Given the description of an element on the screen output the (x, y) to click on. 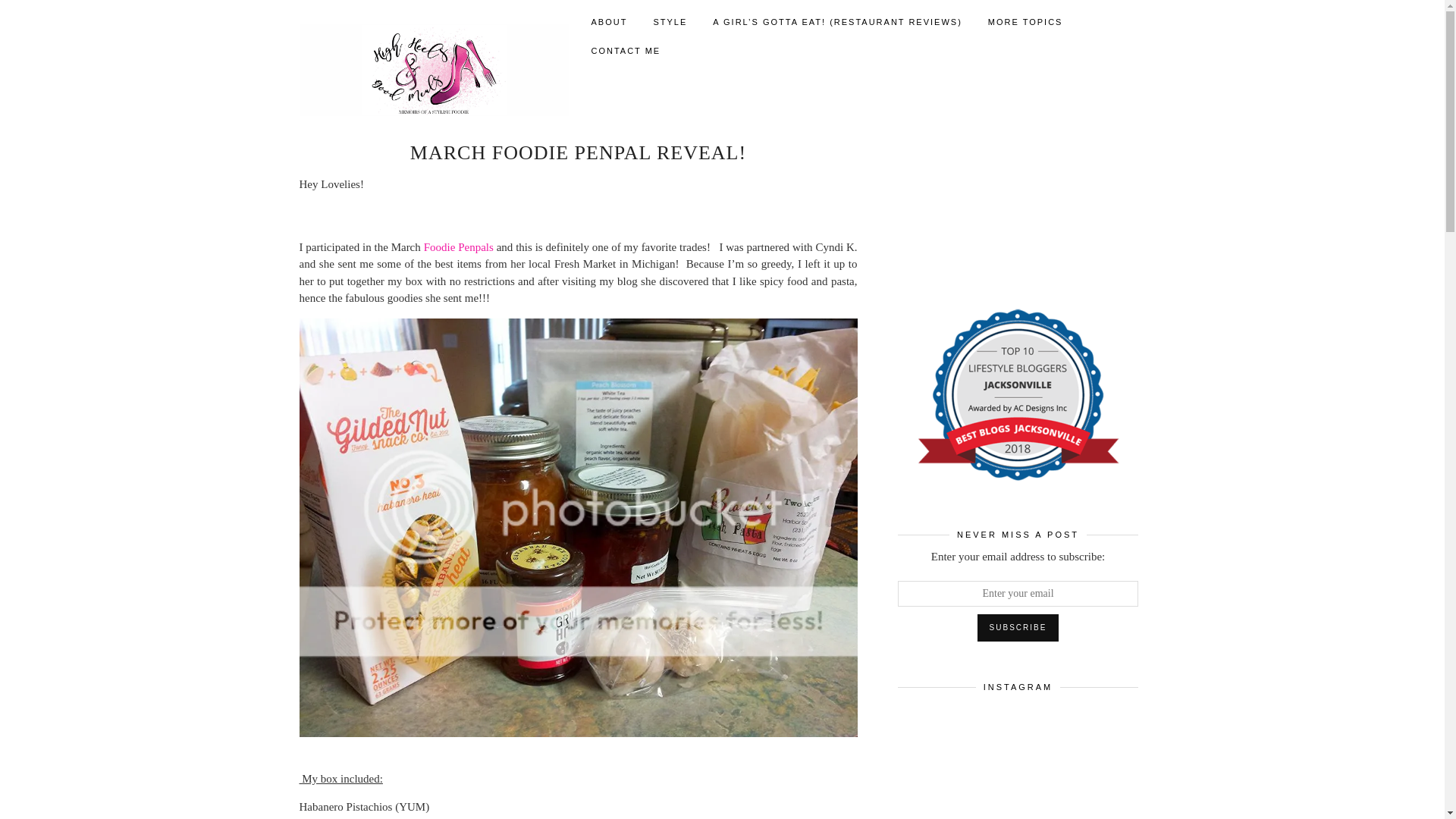
MORE TOPICS (1025, 21)
Foodie Penpals (458, 246)
Subscribe (1017, 627)
UNCATEGORIZED (623, 126)
STYLE (670, 21)
ABOUT (609, 21)
CONTACT ME (625, 50)
